Given the description of an element on the screen output the (x, y) to click on. 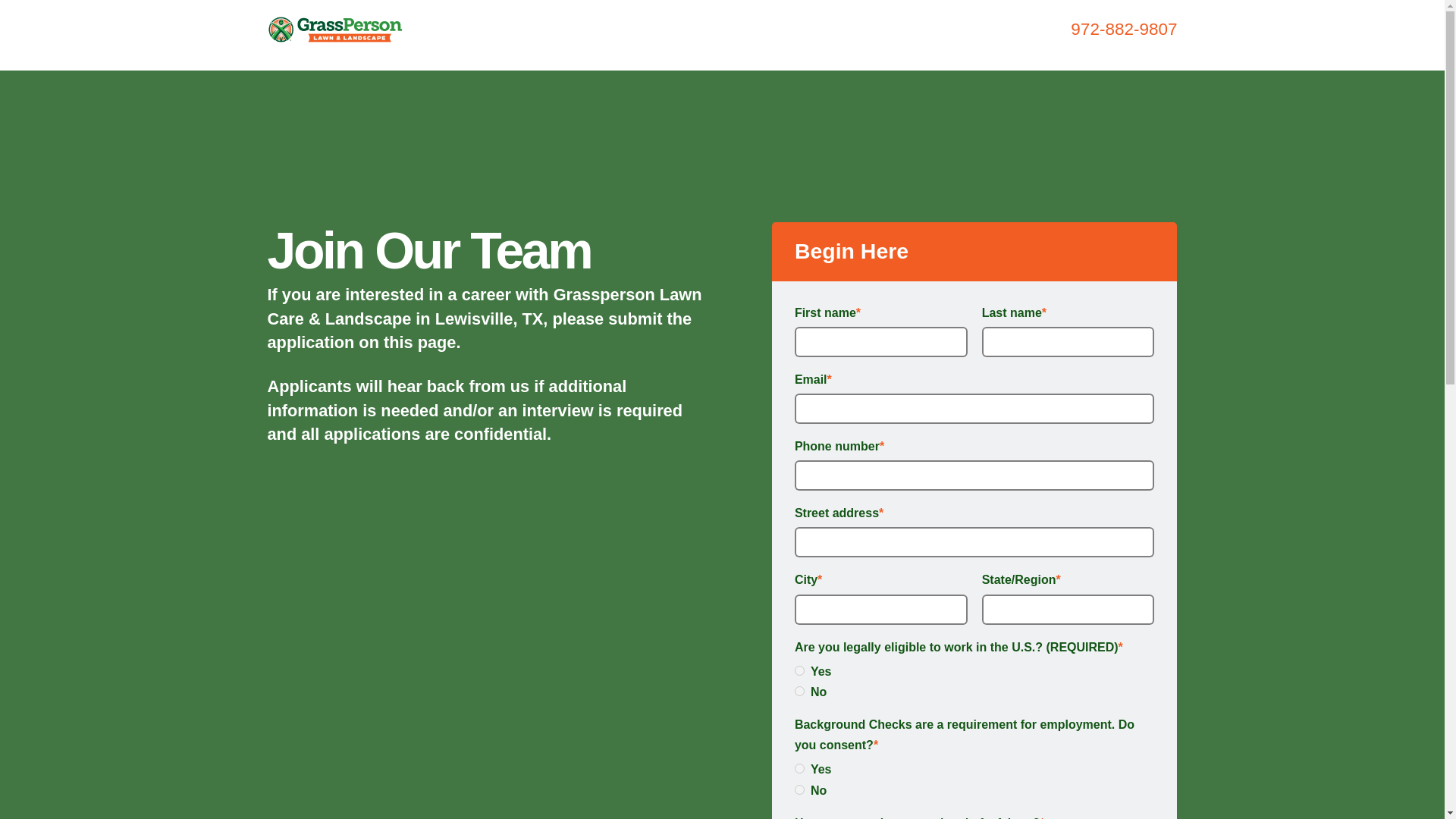
No (799, 691)
Yes (799, 670)
No (799, 789)
logo (334, 29)
Yes (799, 768)
